Given the description of an element on the screen output the (x, y) to click on. 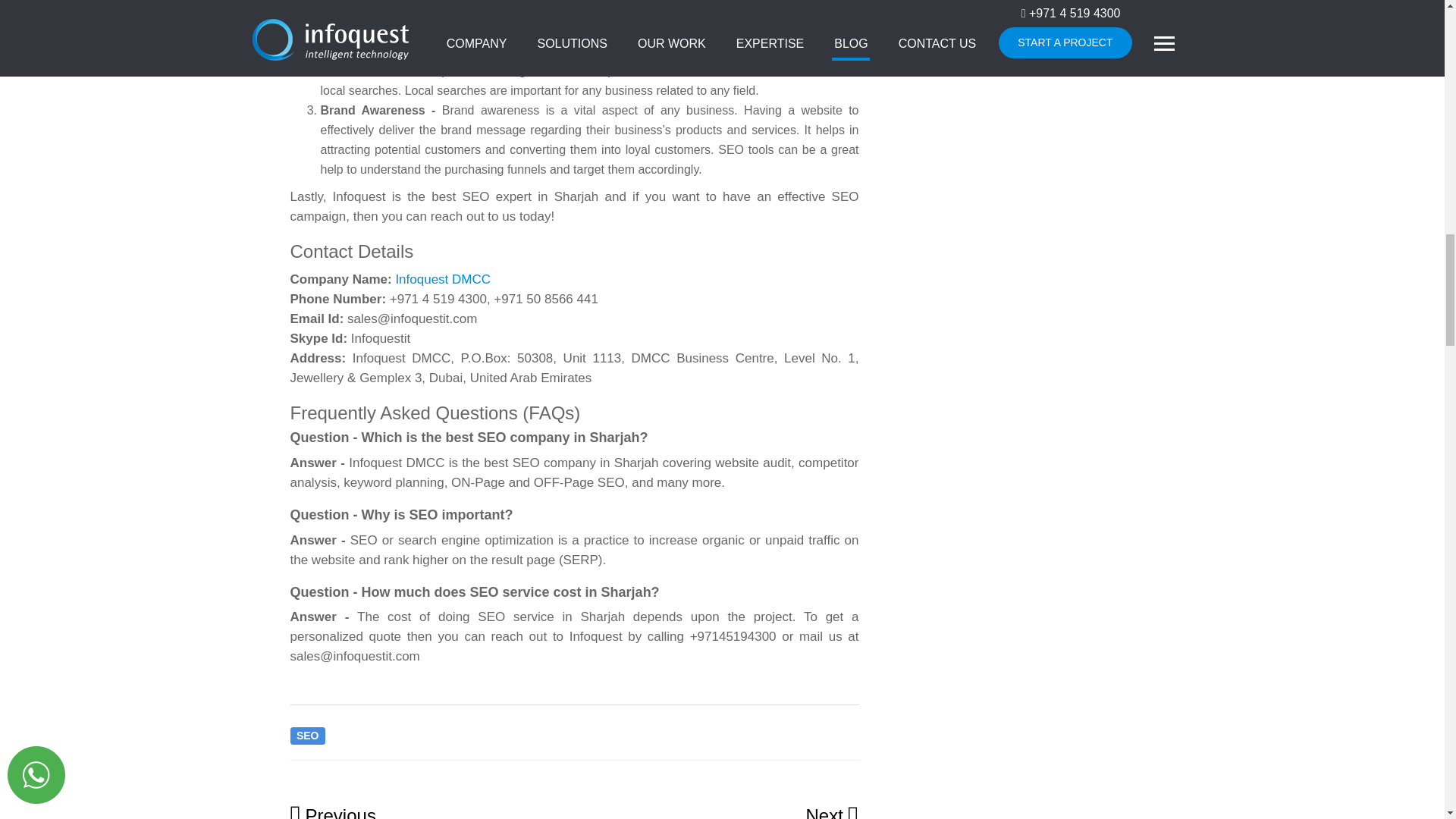
Previous (332, 812)
Next (832, 812)
SEO (306, 734)
Infoquest DMCC (442, 278)
